Given the description of an element on the screen output the (x, y) to click on. 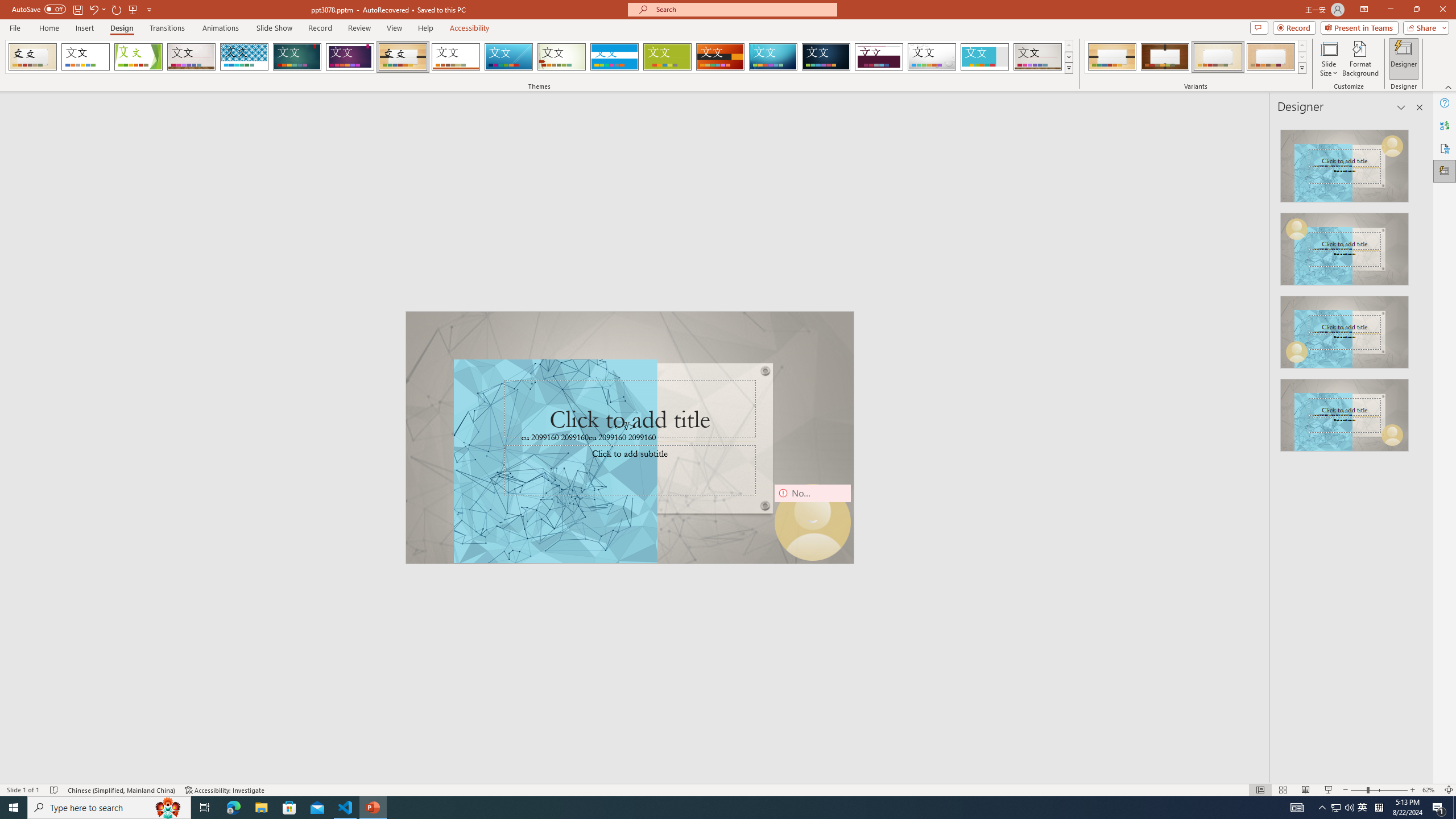
No Problems (121, 766)
C4.2% M6.0% (1286, 115)
Manage (76, 734)
Class: actions-container (1417, 533)
Explorer Section: wangyian (188, 209)
Ln 11, Col 12 (1180, 766)
Copilot (Ctrl+Shift+.) (1434, 46)
Accounts - Sign in requested (76, 690)
Clear Notification (Delete) (1419, 686)
